Given the description of an element on the screen output the (x, y) to click on. 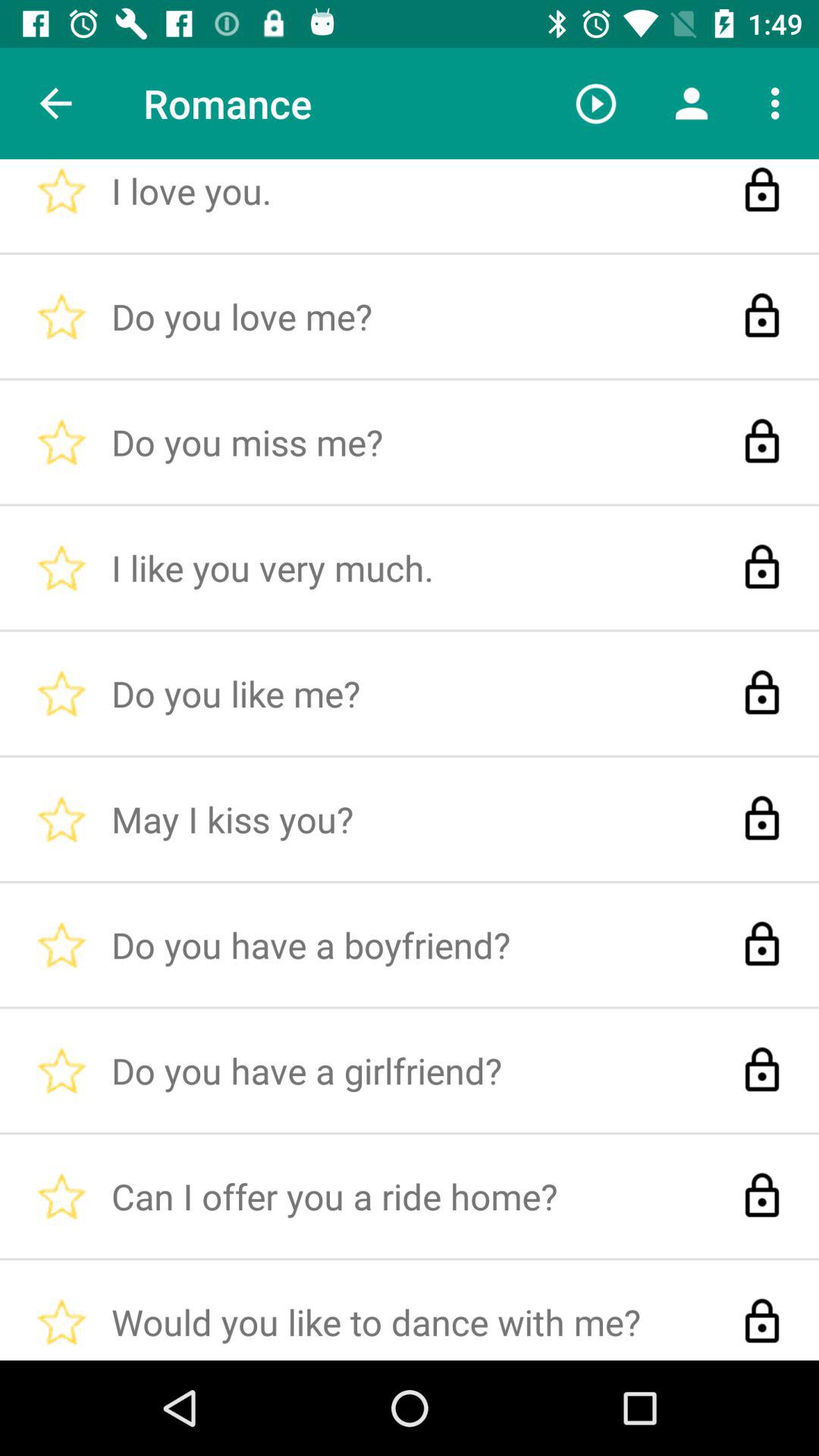
select the icon to the right of the romance item (595, 103)
